Given the description of an element on the screen output the (x, y) to click on. 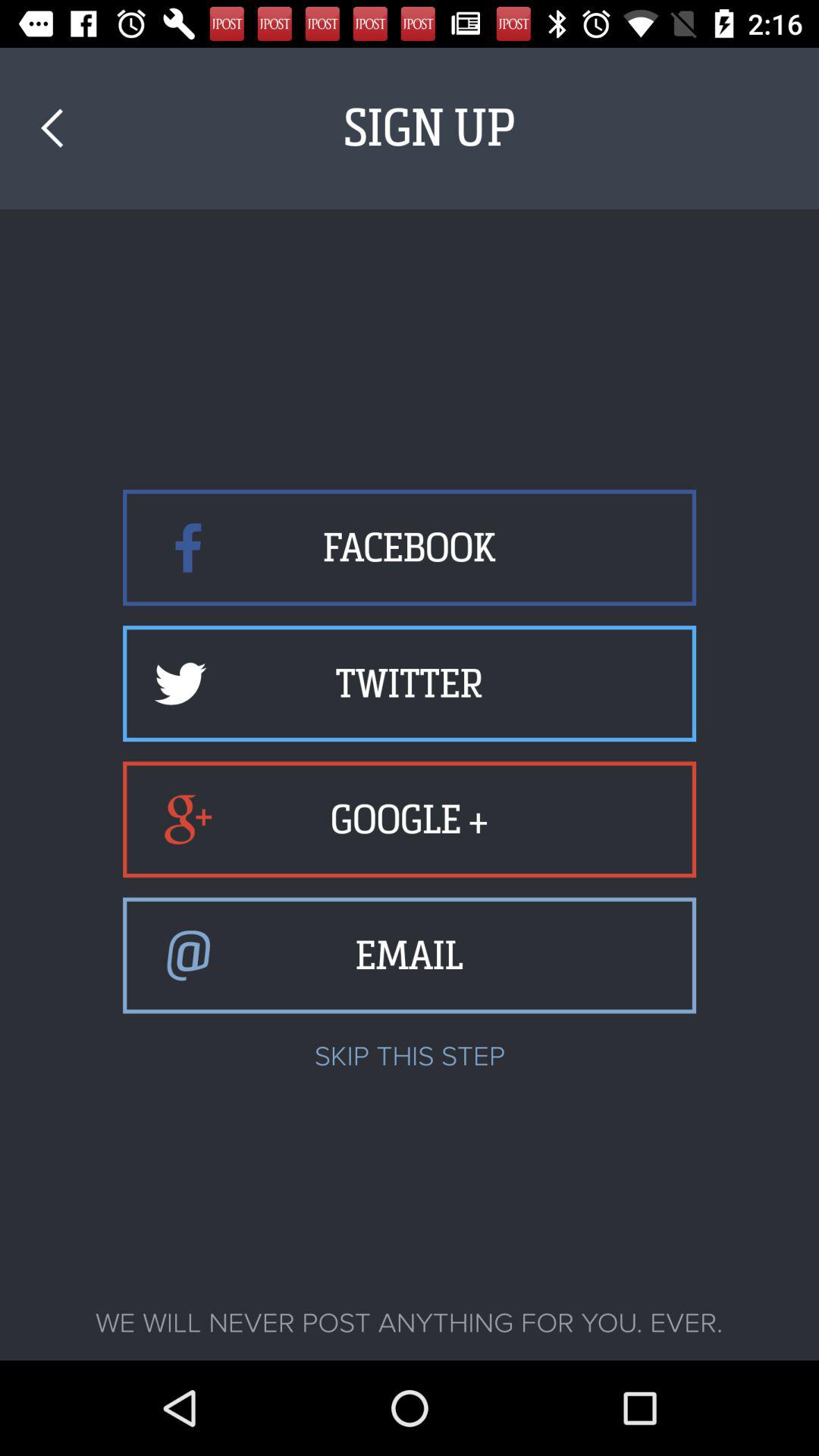
click item above the we will never icon (51, 128)
